Given the description of an element on the screen output the (x, y) to click on. 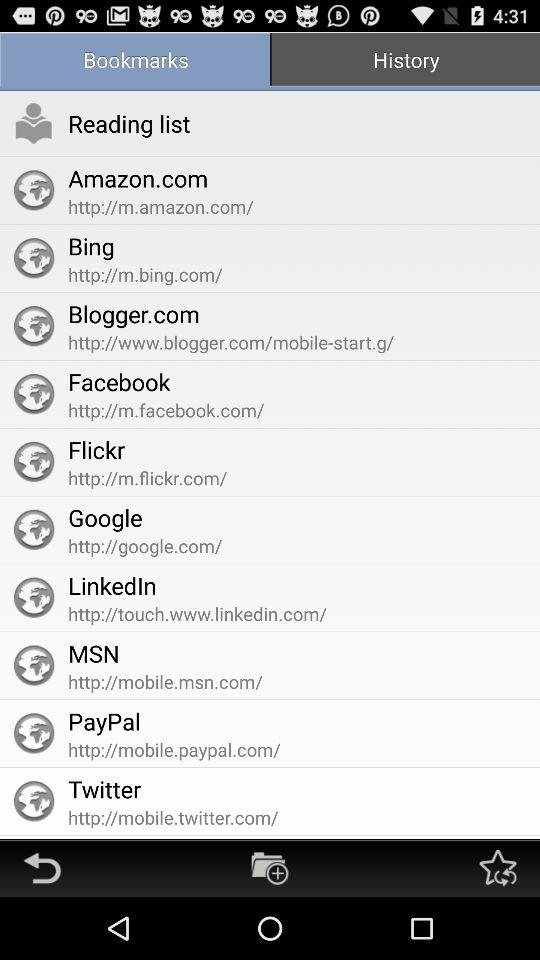
scroll until bookmarks item (135, 61)
